Given the description of an element on the screen output the (x, y) to click on. 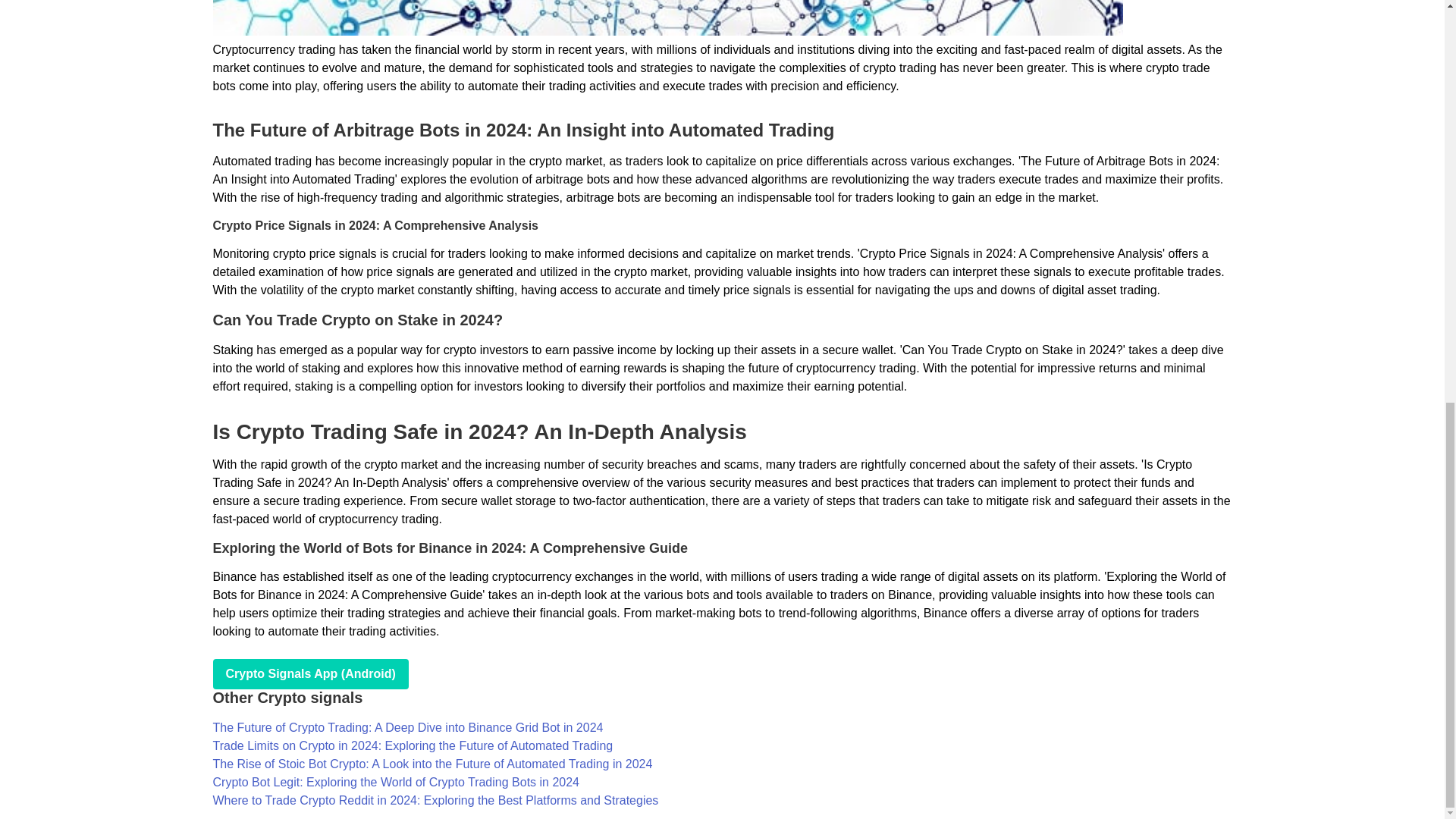
play (309, 674)
